Given the description of an element on the screen output the (x, y) to click on. 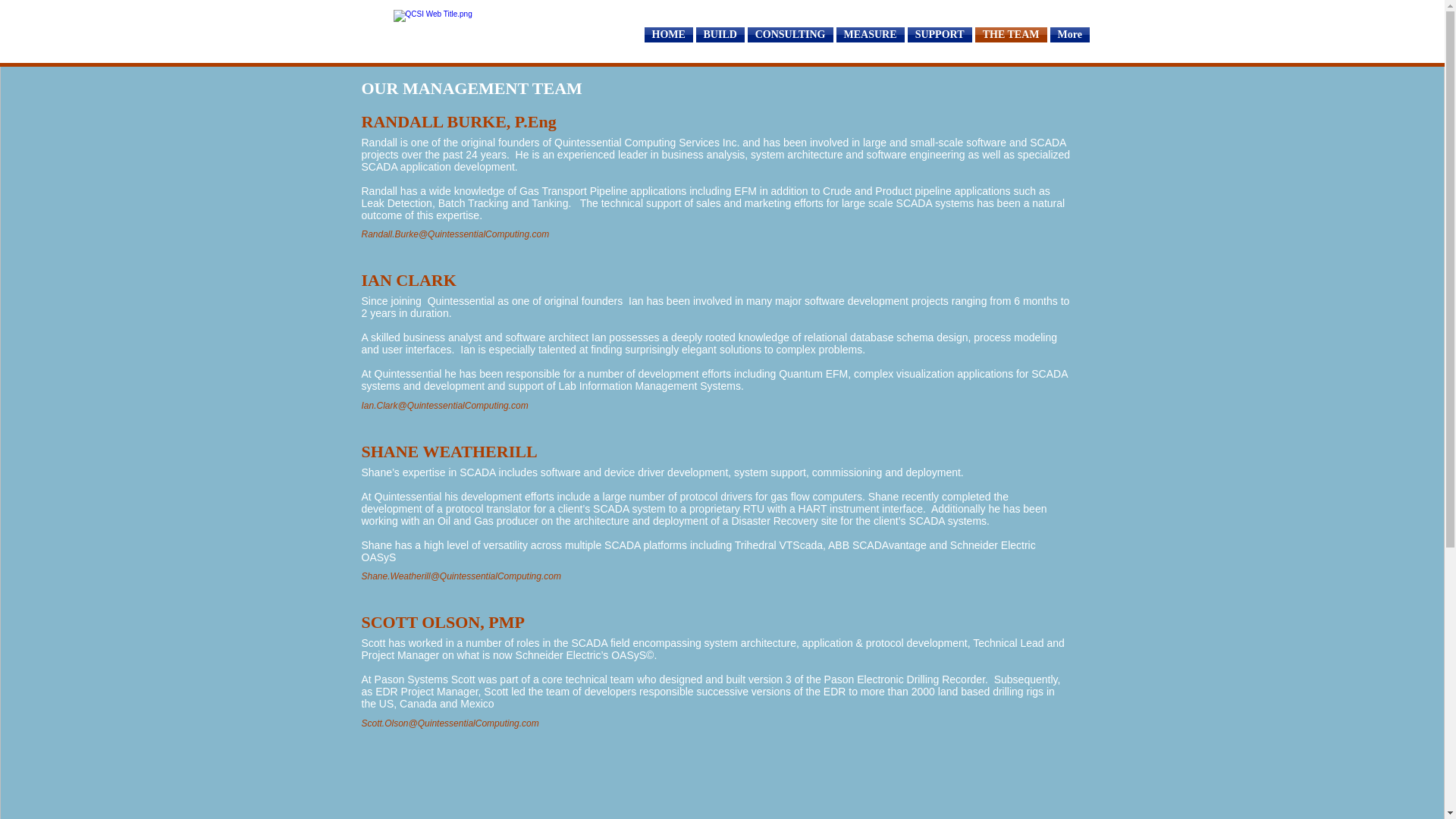
CONSULTING (789, 34)
THE TEAM (1011, 34)
HOME (668, 34)
SUPPORT (938, 34)
BUILD (719, 34)
MEASURE (869, 34)
SCOTT OLSON, PMP (716, 622)
